Given the description of an element on the screen output the (x, y) to click on. 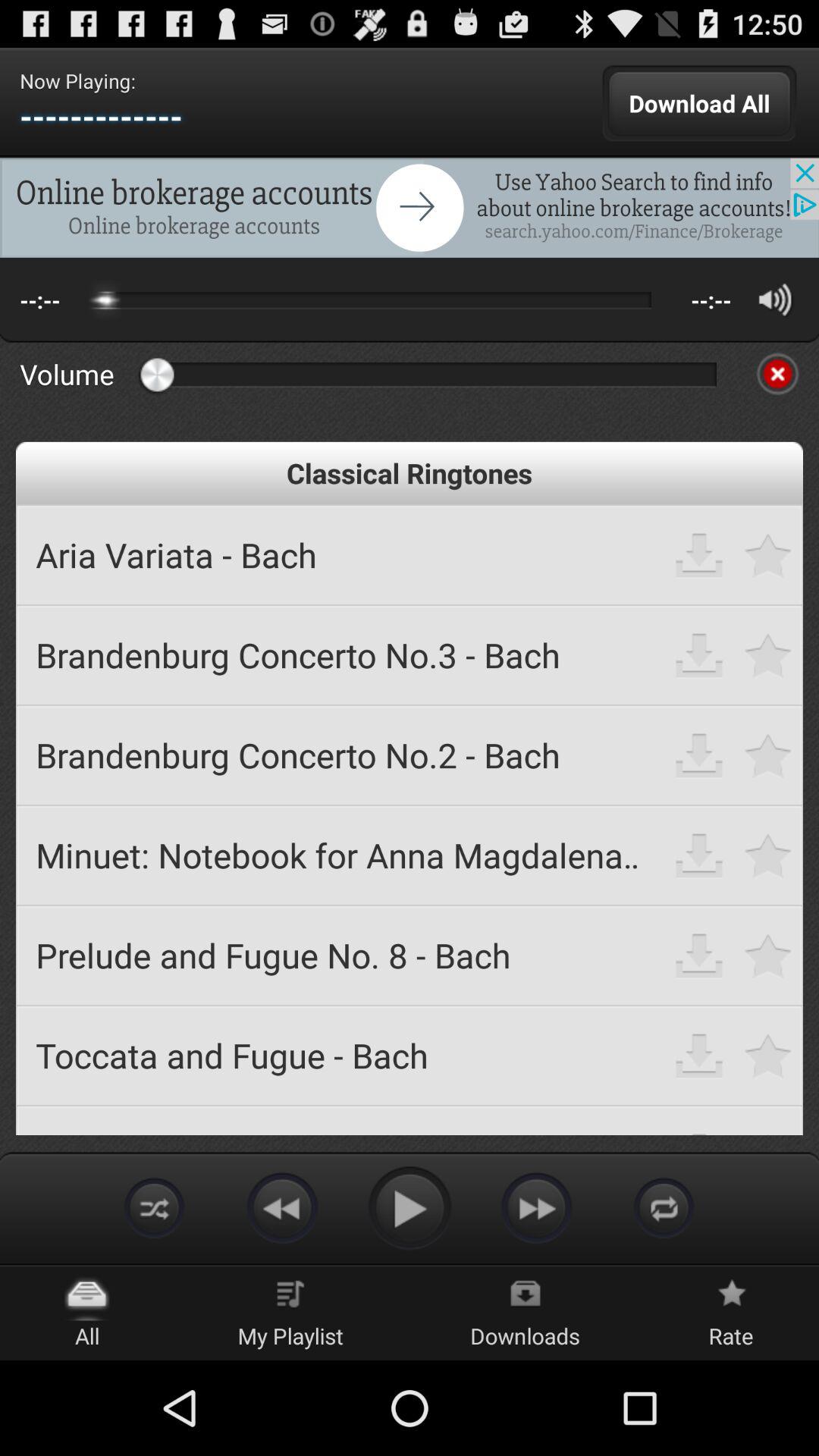
auto repeat (154, 1207)
